Given the description of an element on the screen output the (x, y) to click on. 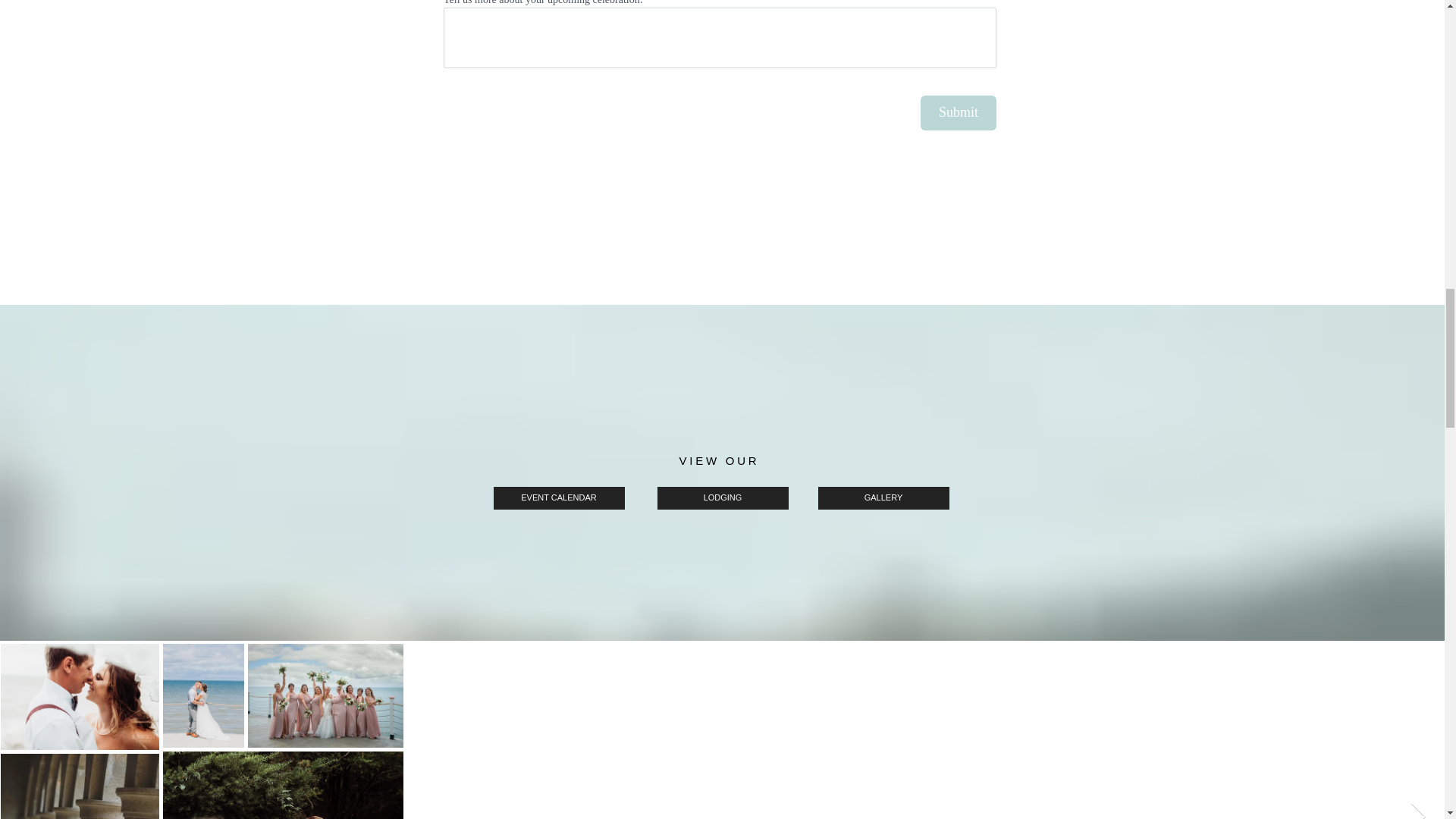
EVENT CALENDAR (558, 497)
GALLERY (882, 497)
LODGING (721, 497)
